Given the description of an element on the screen output the (x, y) to click on. 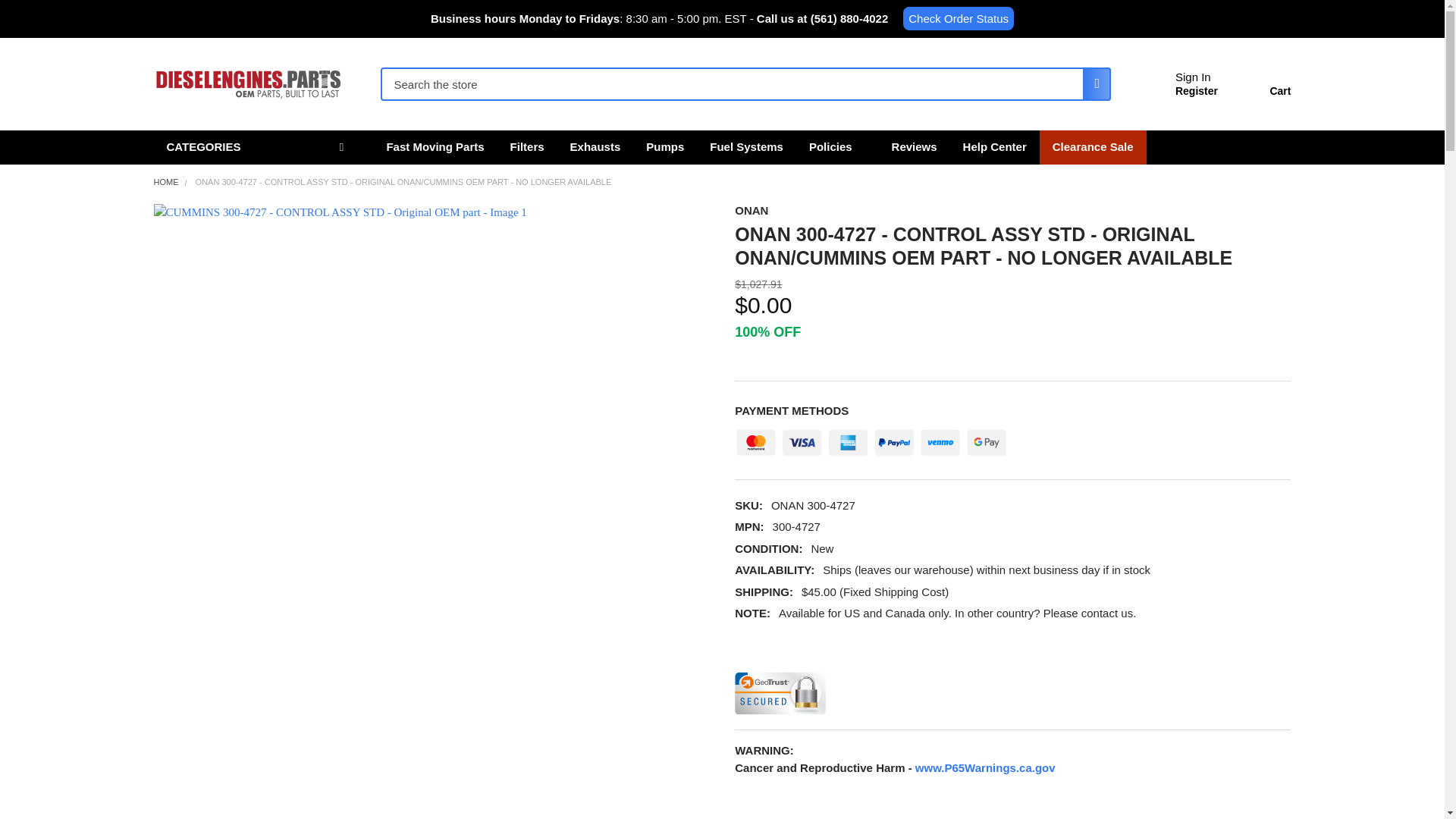
DIESELENGINES PARTS (247, 84)
Cart (1262, 86)
CATEGORIES (255, 146)
Check Order Status (957, 18)
Search (1092, 83)
Register (1195, 91)
Payment Methods (871, 438)
Search (1092, 83)
Cart (1262, 86)
GeoTrust Secured (780, 692)
Sign In (1192, 77)
